Given the description of an element on the screen output the (x, y) to click on. 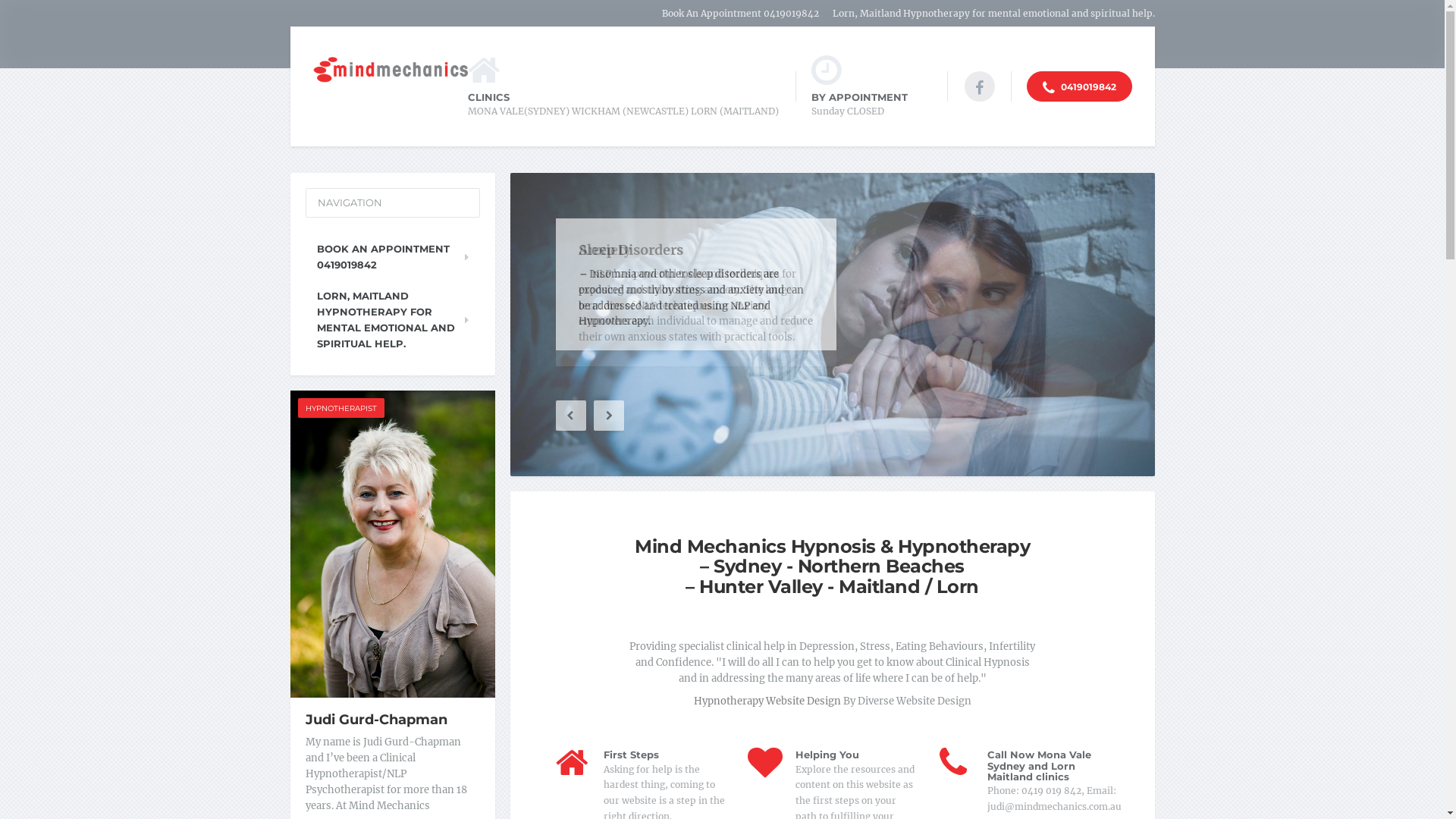
BOOK AN APPOINTMENT 0419019842 Element type: text (391, 256)
Book An Appointment 0419019842 Element type: text (734, 13)
0419019842 Element type: text (1079, 86)
HYPNOTHERAPIST Element type: text (340, 407)
Hypnotherapy Website Design Element type: text (766, 700)
